Given the description of an element on the screen output the (x, y) to click on. 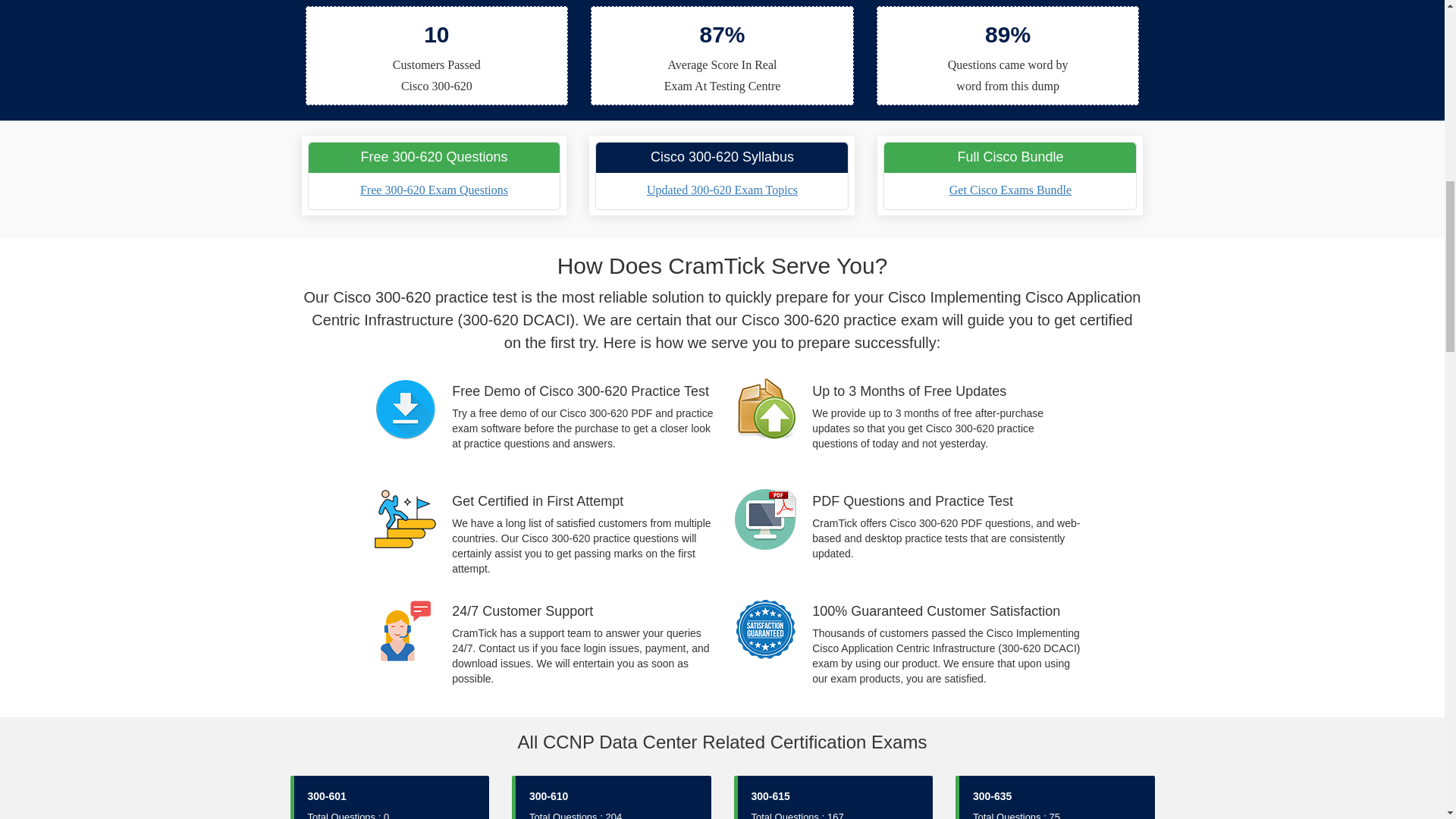
Get Cisco Exams Bundle (1010, 189)
300-601 (326, 796)
300-615 (770, 796)
Updated 300-620 Exam Topics (721, 189)
300-610 (548, 796)
Free 300-620 Exam Questions (433, 189)
